Given the description of an element on the screen output the (x, y) to click on. 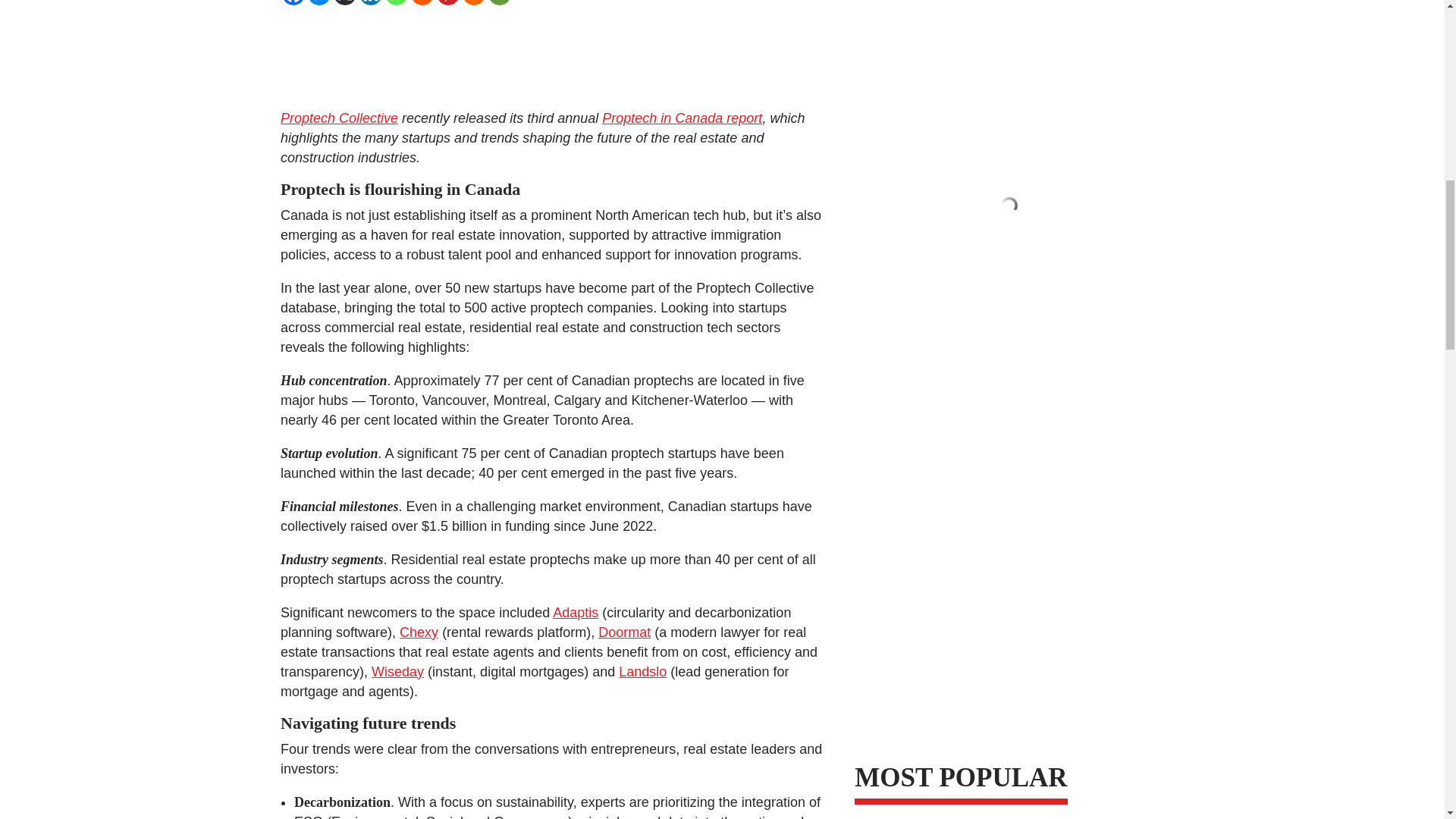
Linkedin (370, 2)
Print (473, 2)
X (344, 2)
Facebook (293, 2)
Whatsapp (396, 2)
Pinterest (448, 2)
Reddit (421, 2)
